Given the description of an element on the screen output the (x, y) to click on. 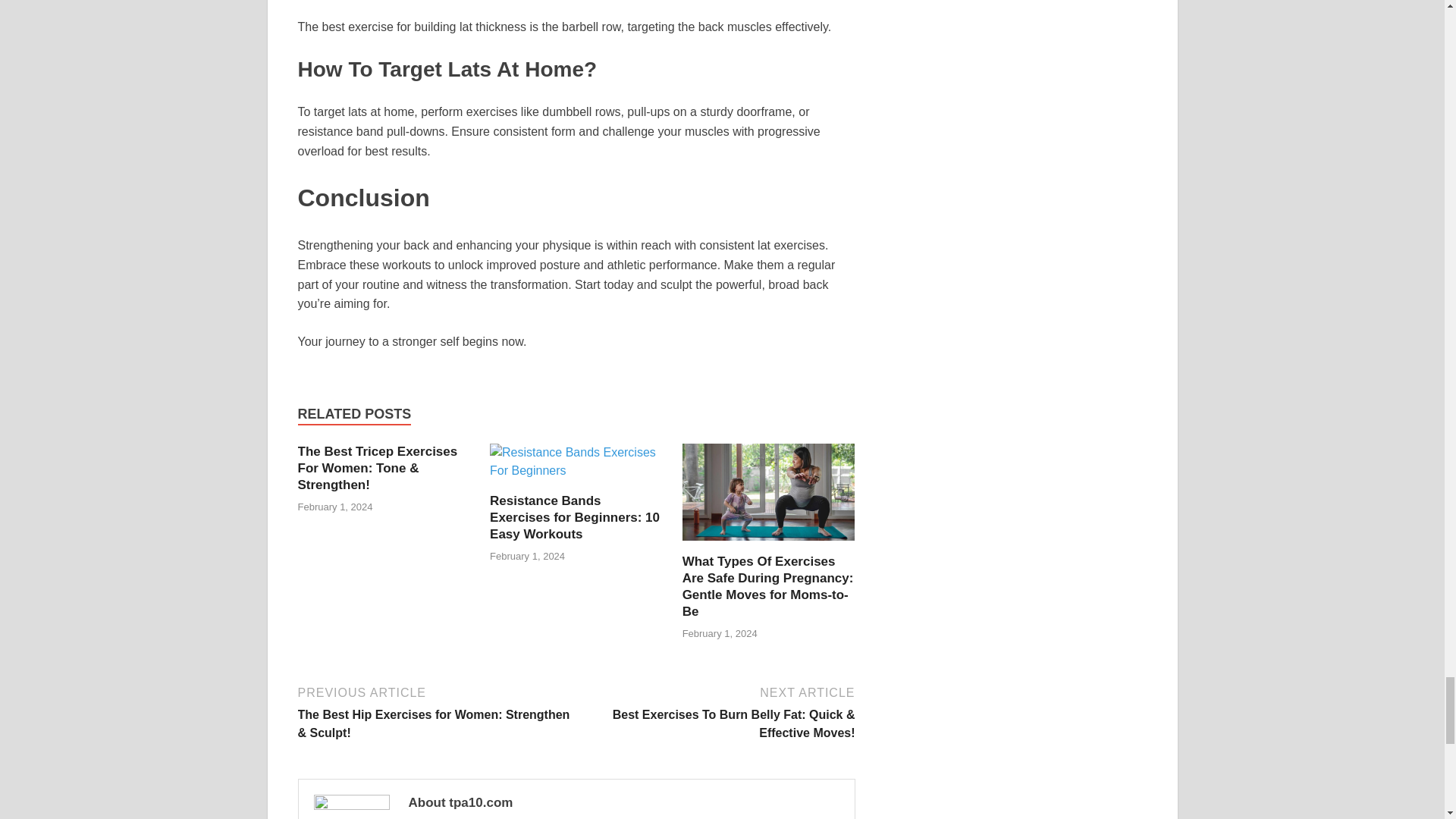
Resistance Bands Exercises for Beginners: 10 Easy Workouts (574, 517)
Resistance Bands Exercises for Beginners: 10 Easy Workouts (575, 466)
